Given the description of an element on the screen output the (x, y) to click on. 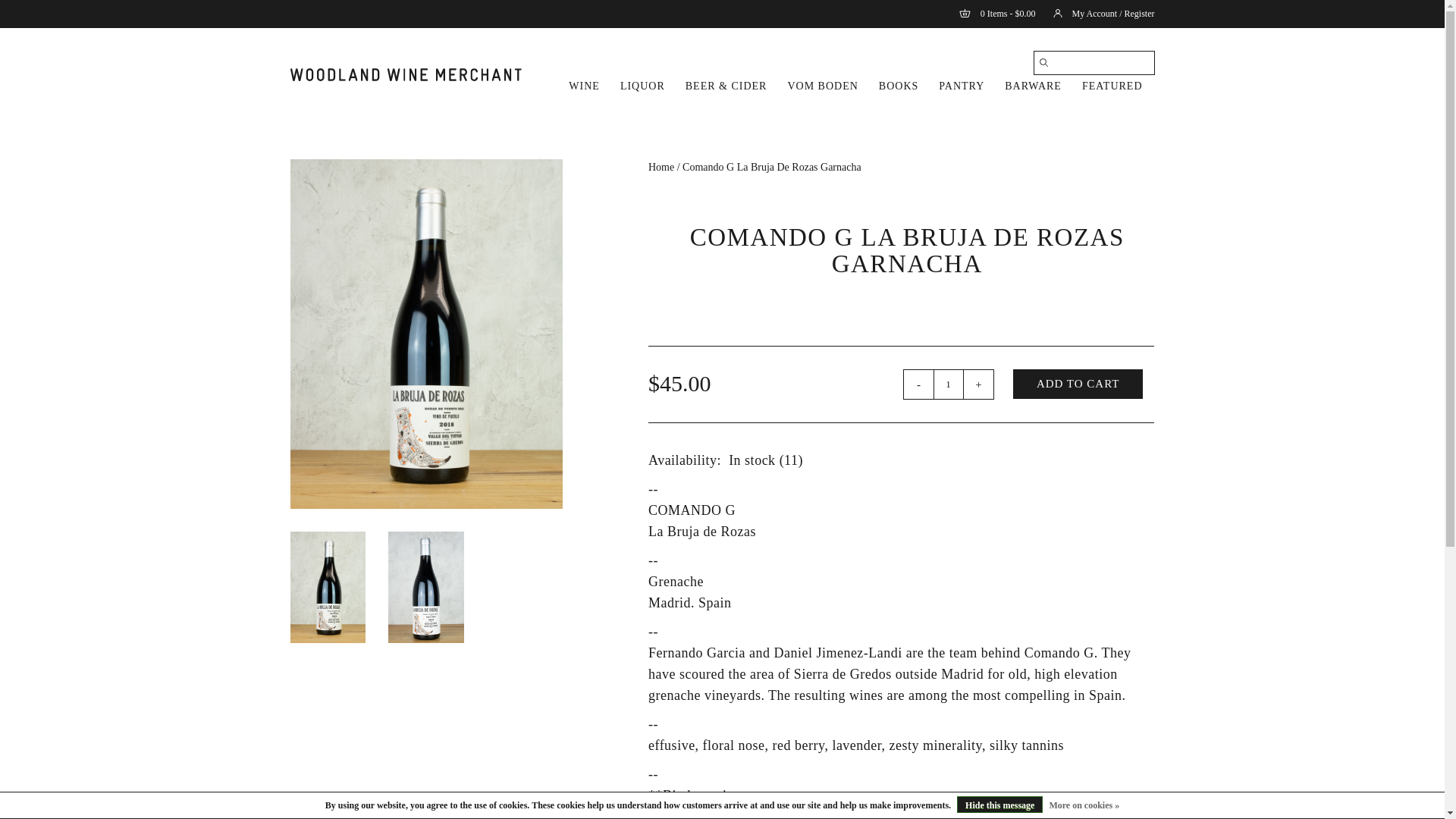
1 (948, 384)
Cart (990, 13)
WINE (583, 86)
My Account (1096, 13)
Wine (583, 86)
Woodland Wine Merchant (405, 74)
